Given the description of an element on the screen output the (x, y) to click on. 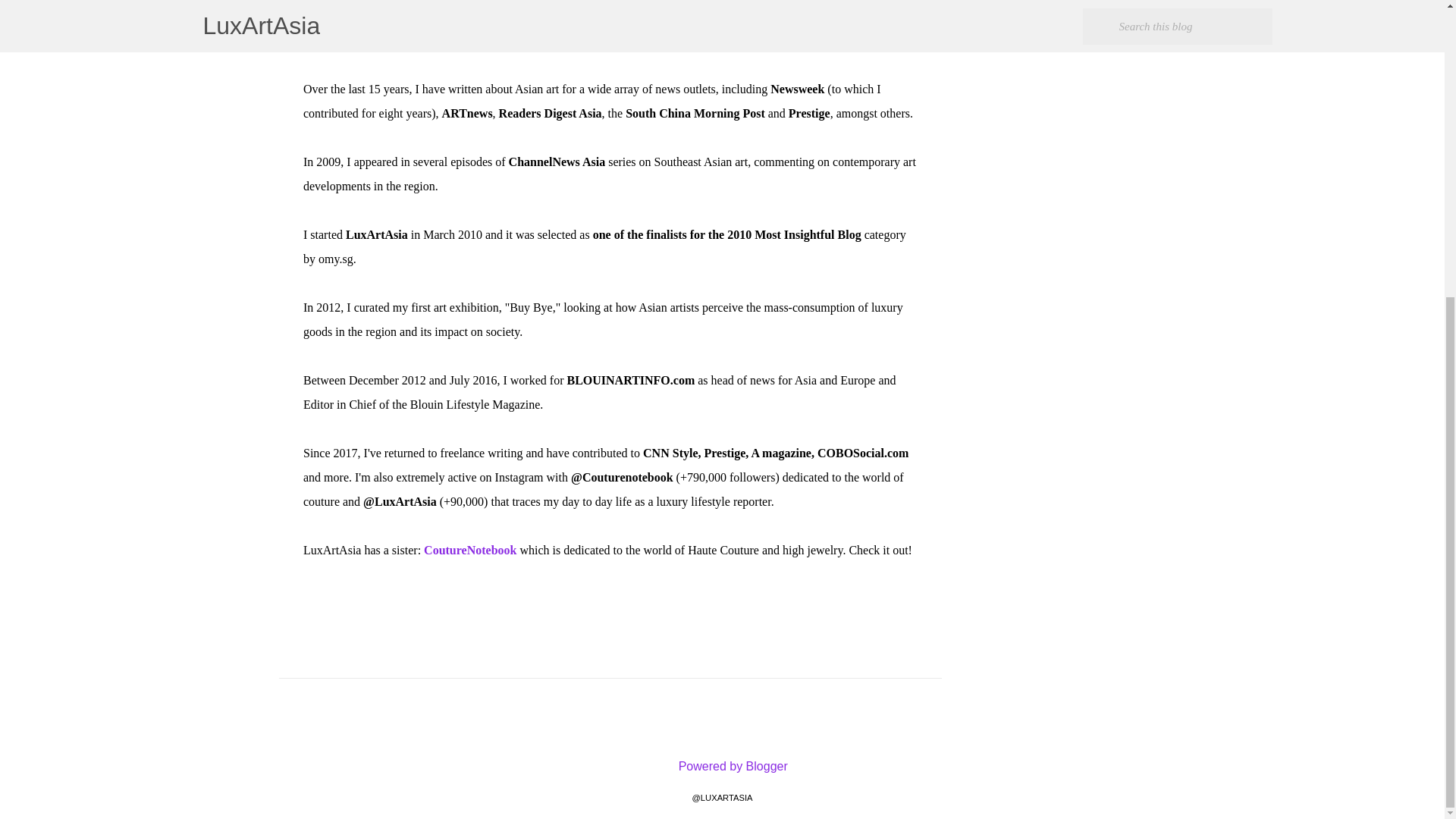
Powered by Blogger (721, 766)
CoutureNotebook  (471, 549)
